Given the description of an element on the screen output the (x, y) to click on. 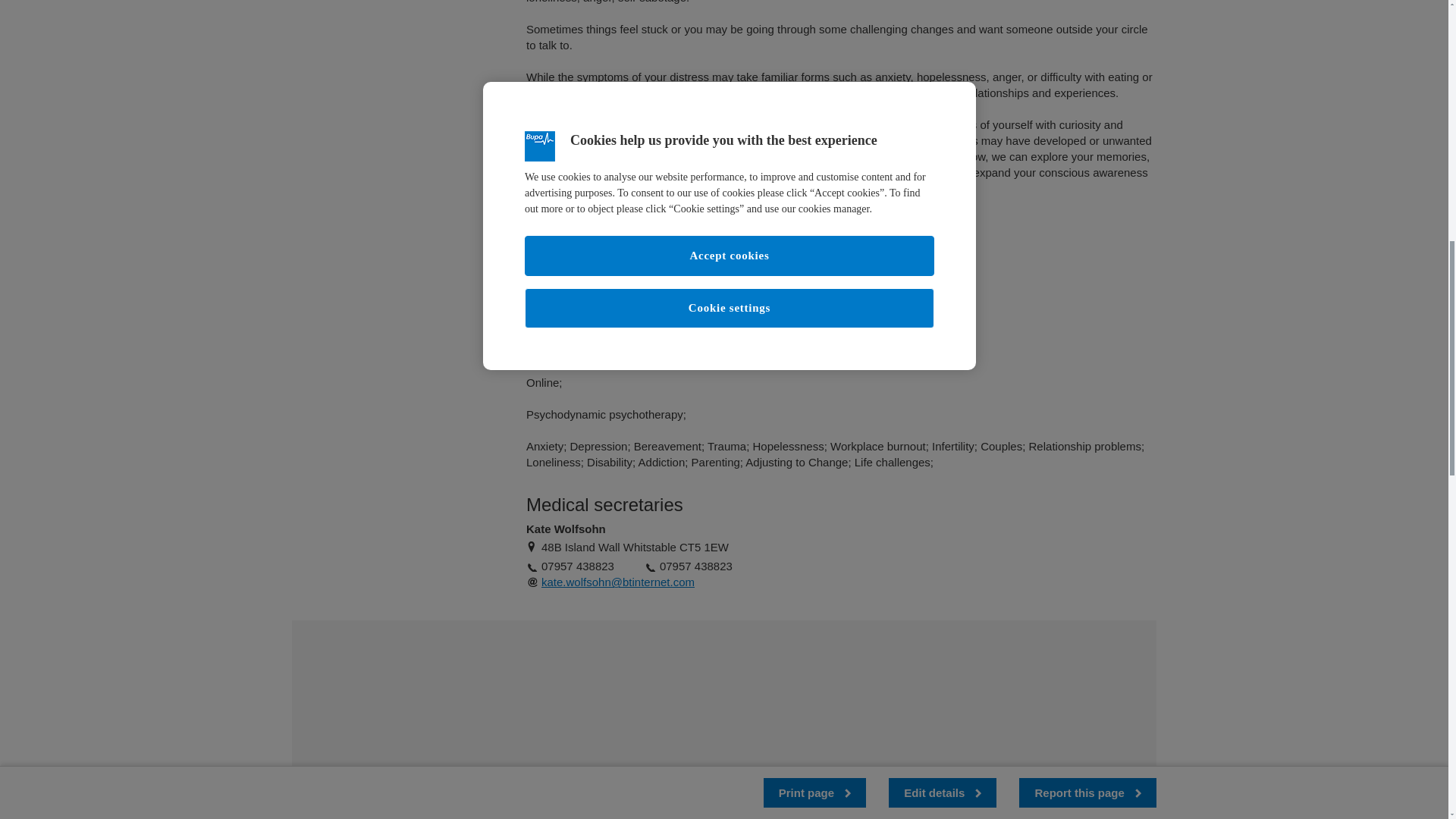
07957 438823 (695, 565)
07957 438823 (577, 565)
